Given the description of an element on the screen output the (x, y) to click on. 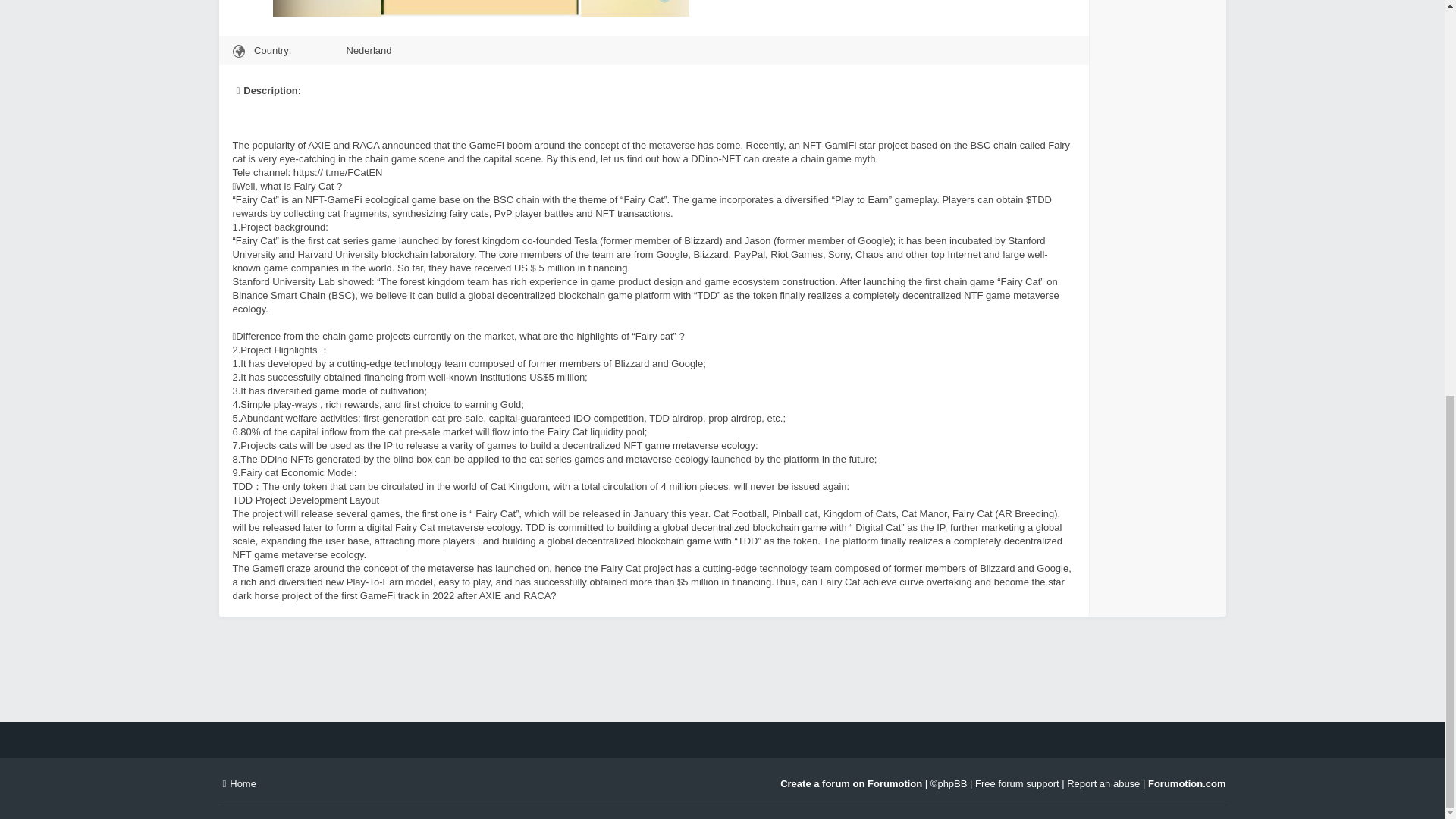
Home (237, 783)
Forumotion.com (1186, 783)
Create a forum on Forumotion (850, 783)
Report an abuse (1103, 783)
phpBB (951, 783)
Free forum support (1017, 783)
